Given the description of an element on the screen output the (x, y) to click on. 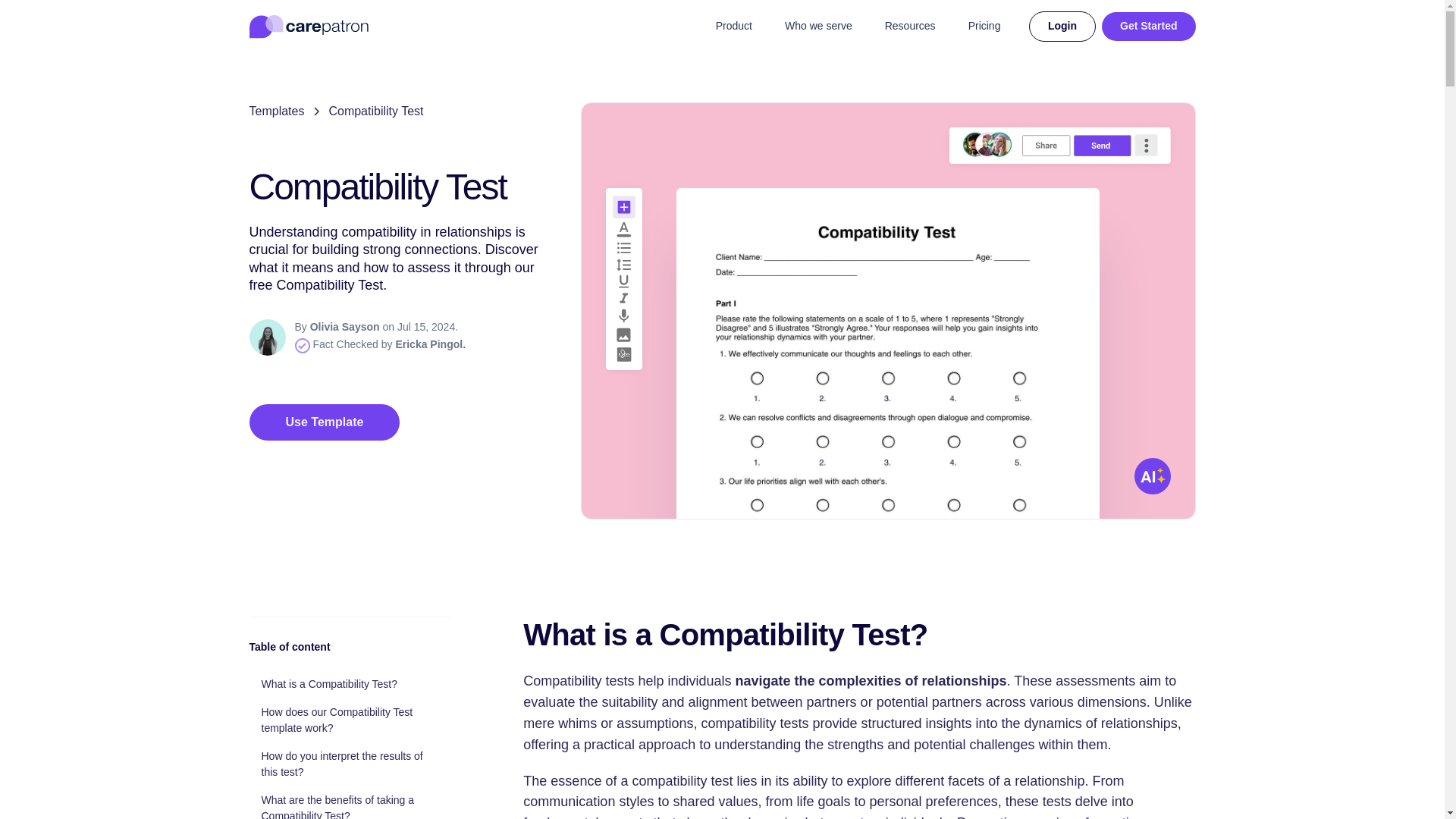
Who we serve (818, 26)
Product (733, 26)
Resources (909, 26)
